Given the description of an element on the screen output the (x, y) to click on. 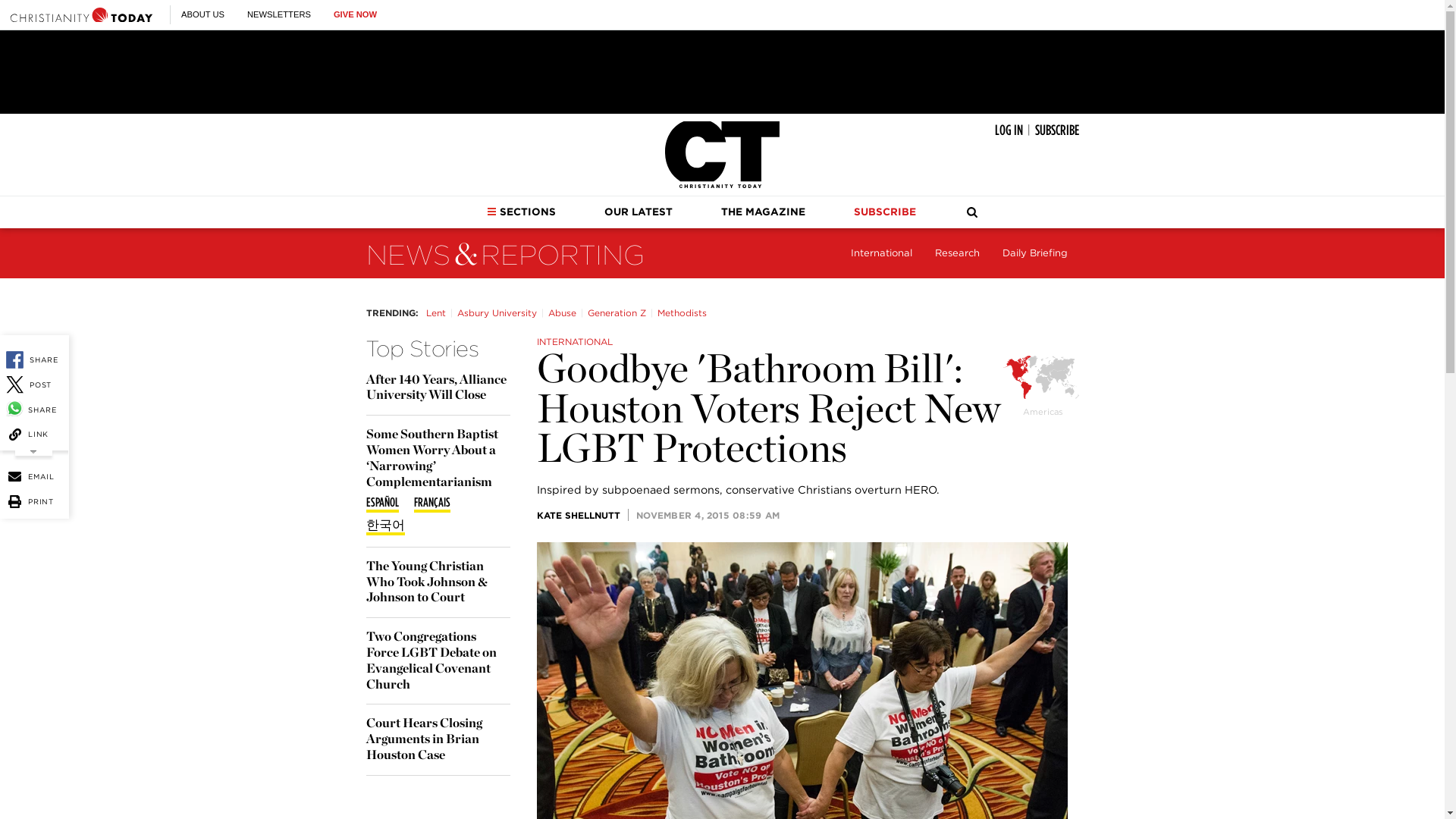
Christianity Today (721, 154)
SUBSCRIBE (1055, 130)
NEWSLETTERS (278, 14)
SECTIONS (521, 212)
Christianity Today (81, 14)
French (431, 503)
Spanish (381, 503)
3rd party ad content (721, 71)
LOG IN (1008, 130)
GIVE NOW (355, 14)
ABOUT US (202, 14)
Sections Dropdown (491, 211)
